Given the description of an element on the screen output the (x, y) to click on. 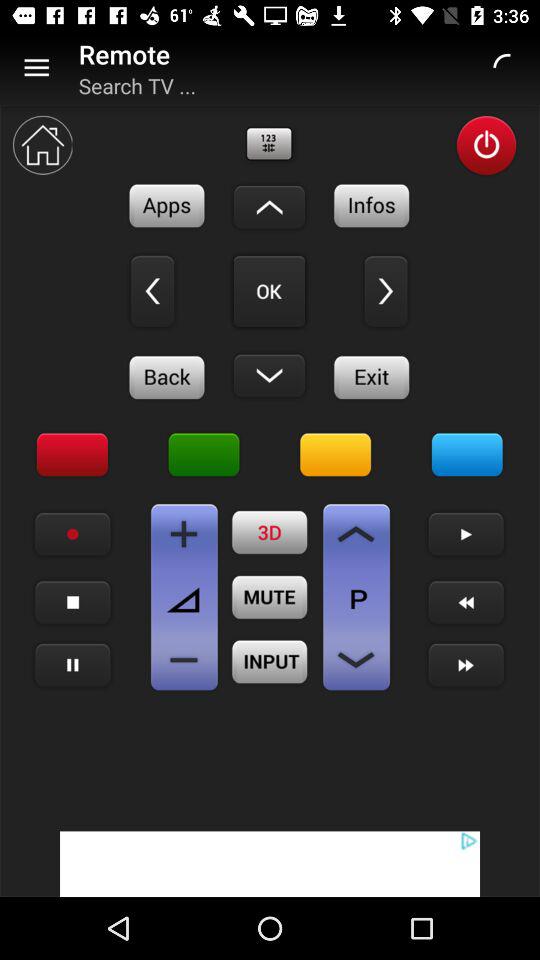
move cursor to the left (152, 291)
